Given the description of an element on the screen output the (x, y) to click on. 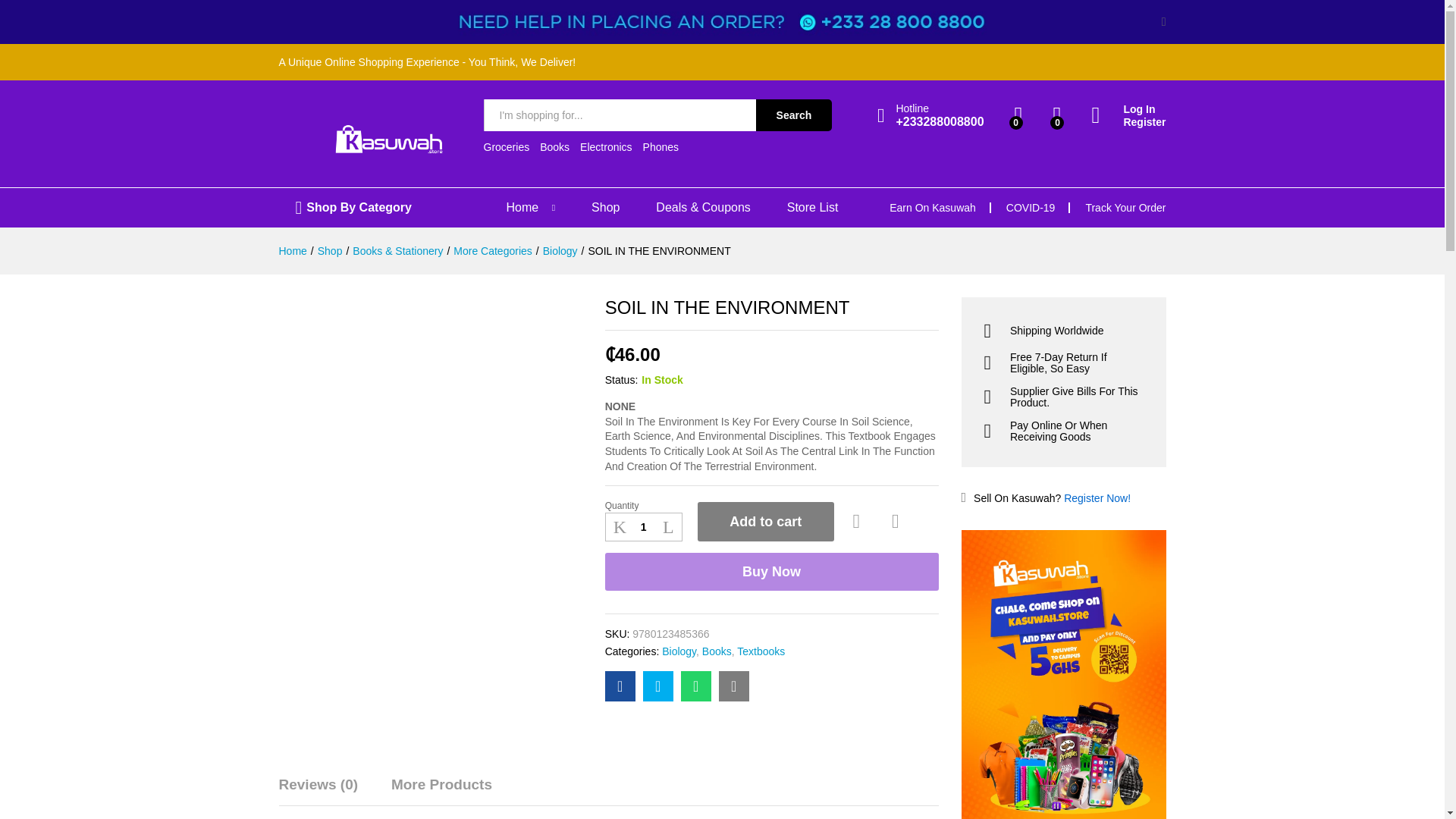
SOIL IN THE ENVIRONMENT (696, 662)
1 (643, 502)
SOIL IN THE ENVIRONMENT (734, 662)
Compare (895, 498)
Qty (643, 502)
SOIL IN THE ENVIRONMENT (619, 662)
Add to wishlist (857, 498)
